Given the description of an element on the screen output the (x, y) to click on. 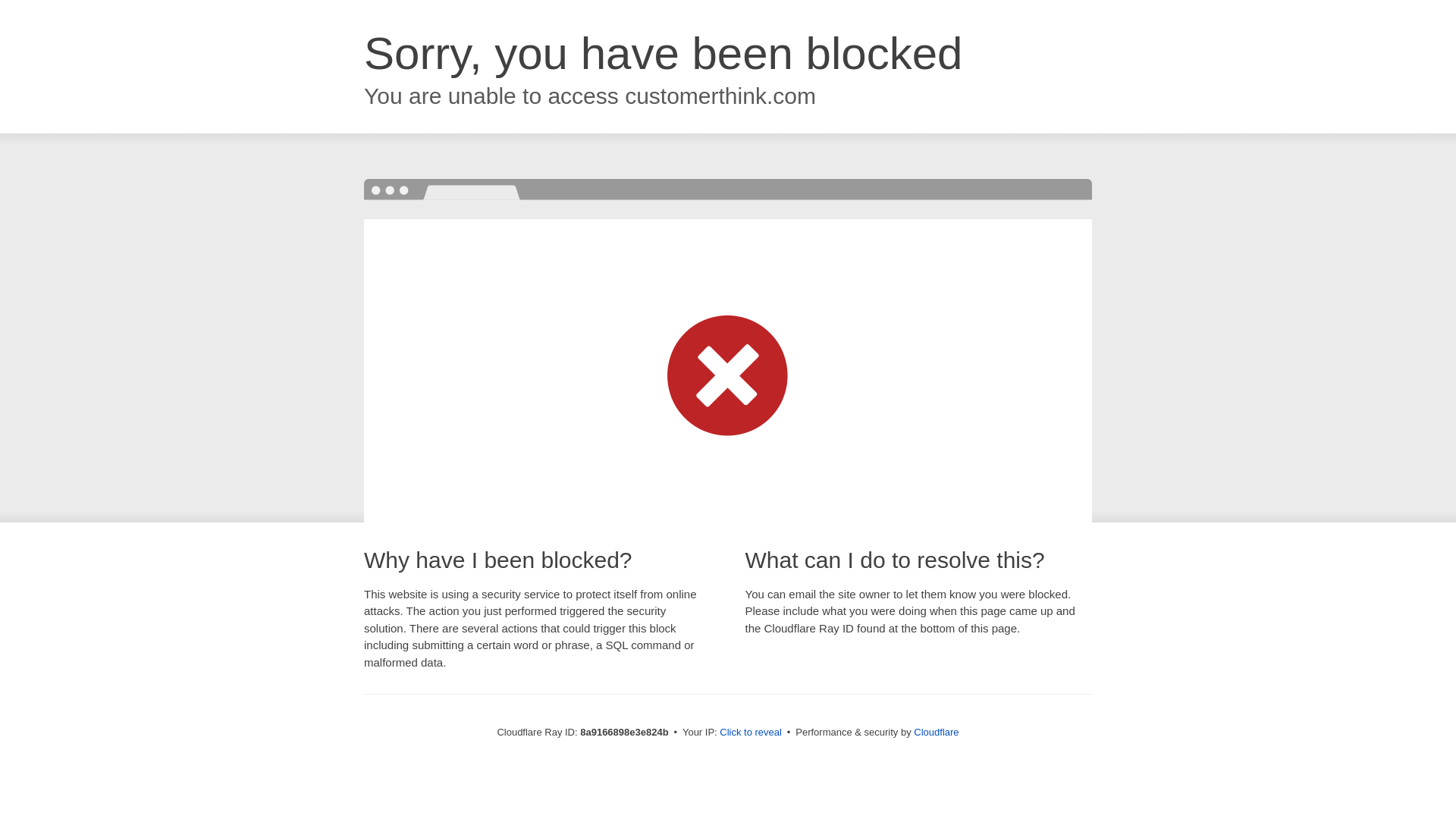
Click to reveal (750, 732)
Cloudflare (936, 731)
